Given the description of an element on the screen output the (x, y) to click on. 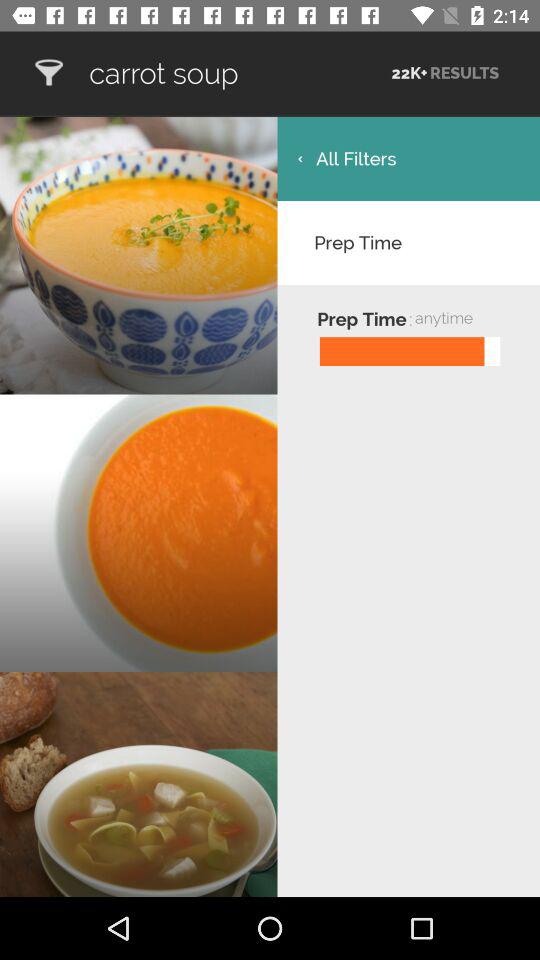
yummly recipes shopping list (48, 72)
